Given the description of an element on the screen output the (x, y) to click on. 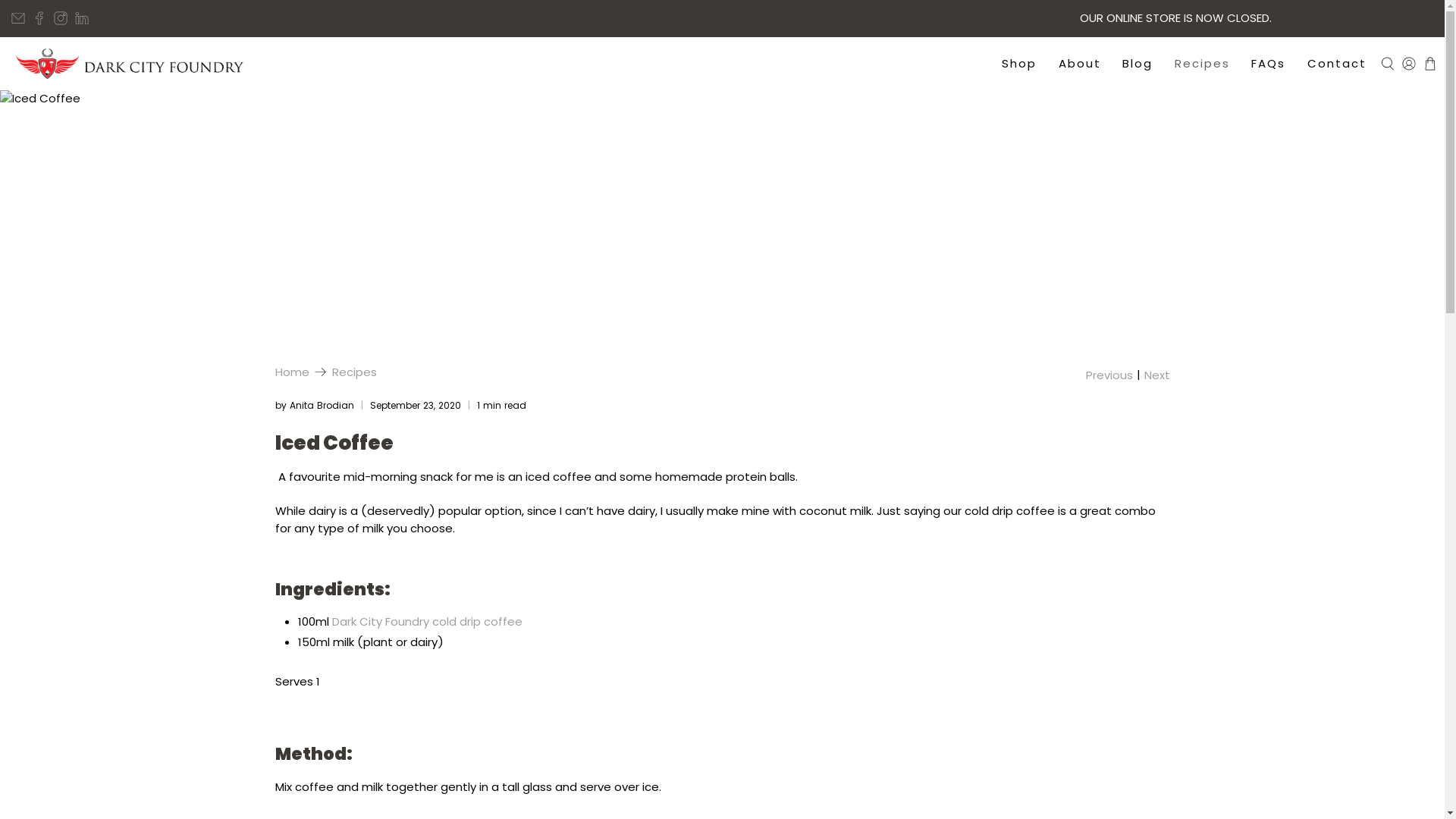
Blog Element type: text (1137, 63)
Next Element type: text (1156, 374)
About Element type: text (1079, 63)
Contact Element type: text (1336, 63)
by Anita Brodian Element type: text (313, 404)
Shop Element type: text (1019, 63)
Dark City Foundry Coffee on Instagram Element type: hover (60, 18)
Recipes Element type: text (1202, 63)
Dark City Foundry Coffee Element type: hover (129, 63)
Email Dark City Foundry Coffee Element type: hover (18, 18)
Dark City Foundry cold drip coffee Element type: text (427, 621)
Home Element type: text (291, 371)
Recipes Element type: text (354, 371)
Dark City Foundry Coffee on Facebook Element type: hover (39, 18)
Previous Element type: text (1108, 374)
FAQs Element type: text (1268, 63)
Dark City Foundry Coffee on LinkedIn Element type: hover (81, 18)
